Given the description of an element on the screen output the (x, y) to click on. 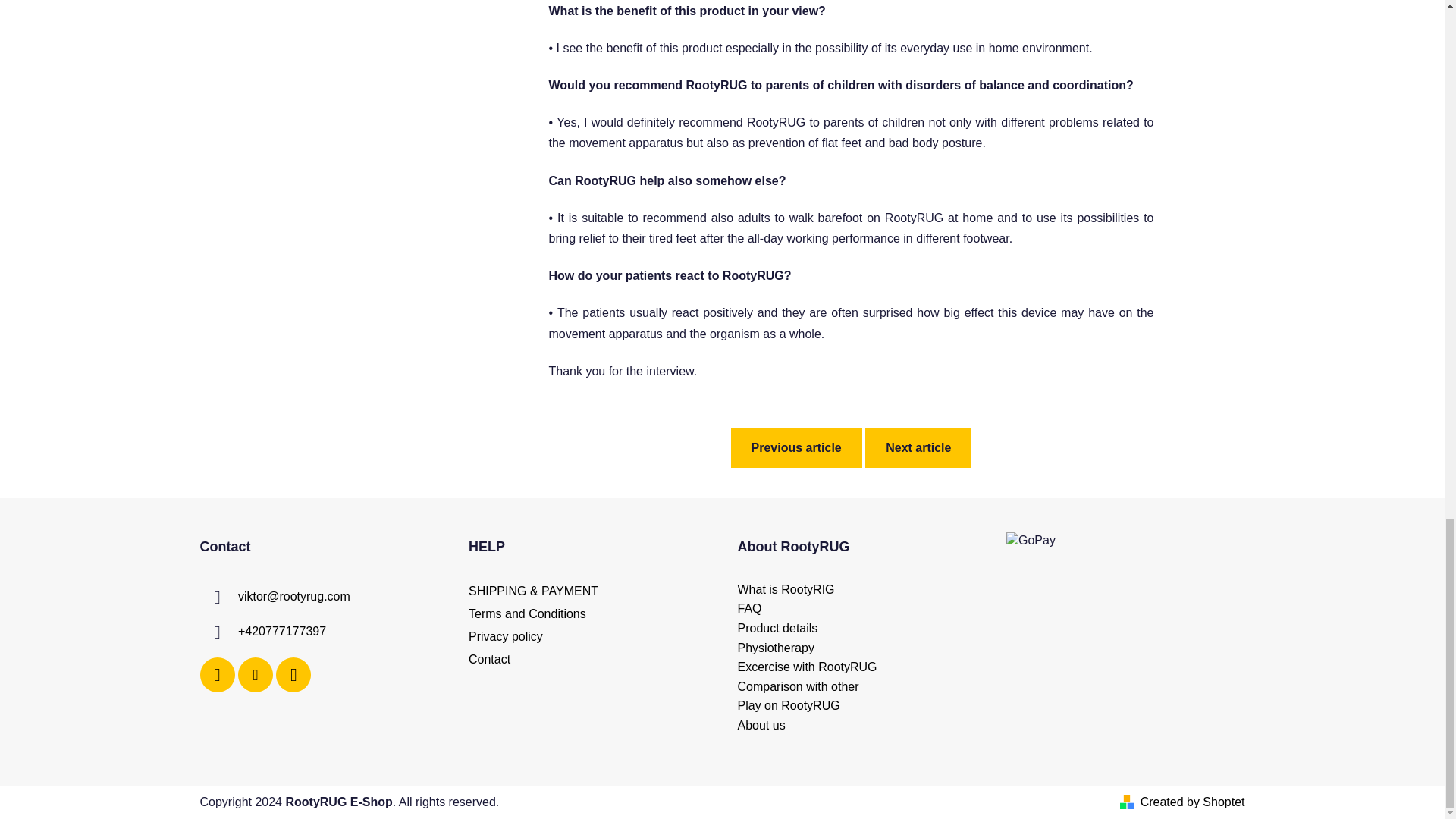
Next article (917, 447)
Instagram (255, 674)
Previous article (795, 447)
Phone (282, 631)
Facebook (217, 674)
YouTube (293, 674)
